Given the description of an element on the screen output the (x, y) to click on. 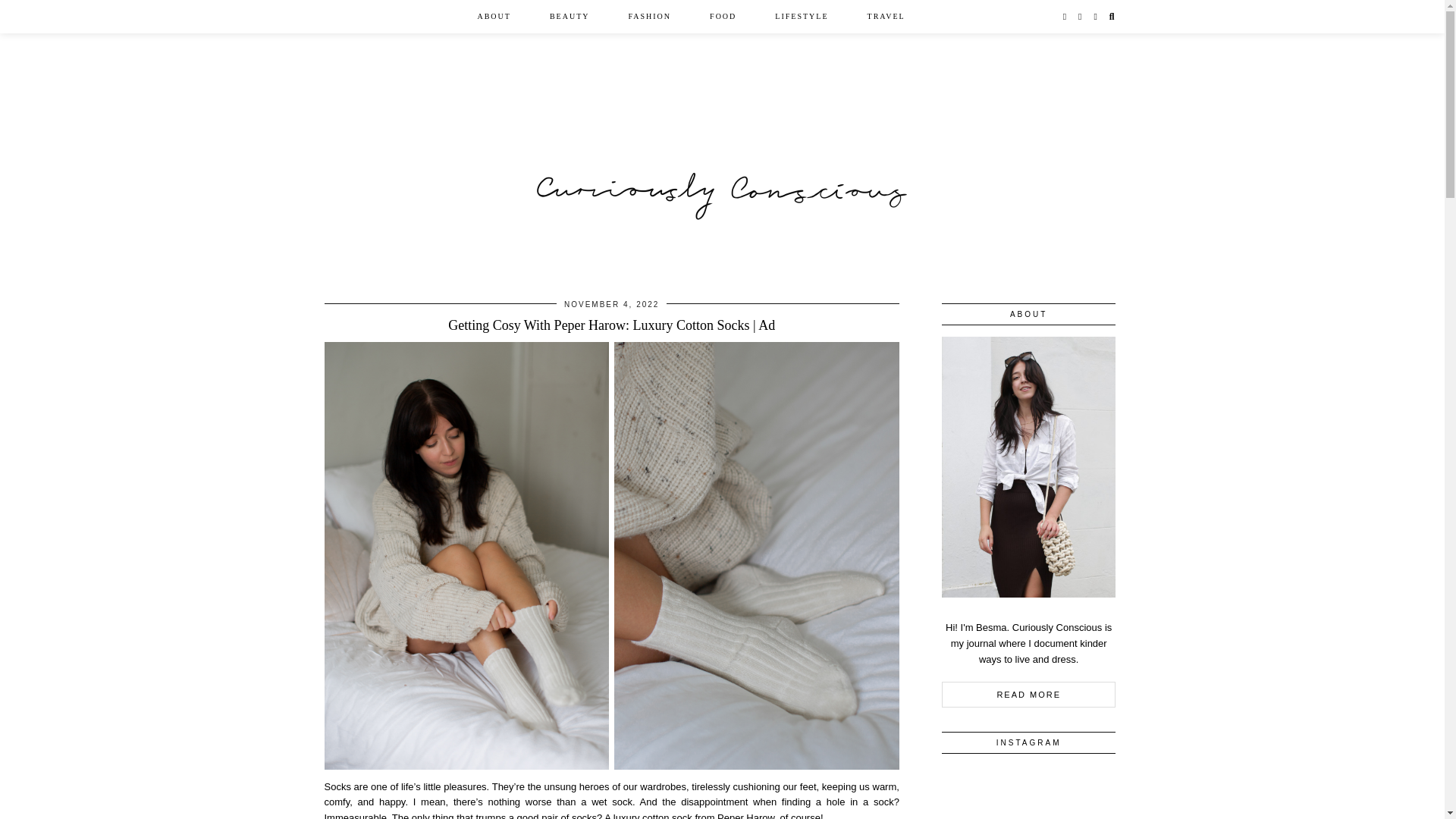
ABOUT (493, 16)
LIFESTYLE (801, 16)
Curiously Conscious (721, 161)
FASHION (649, 16)
TRAVEL (886, 16)
FOOD (722, 16)
BEAUTY (569, 16)
